Given the description of an element on the screen output the (x, y) to click on. 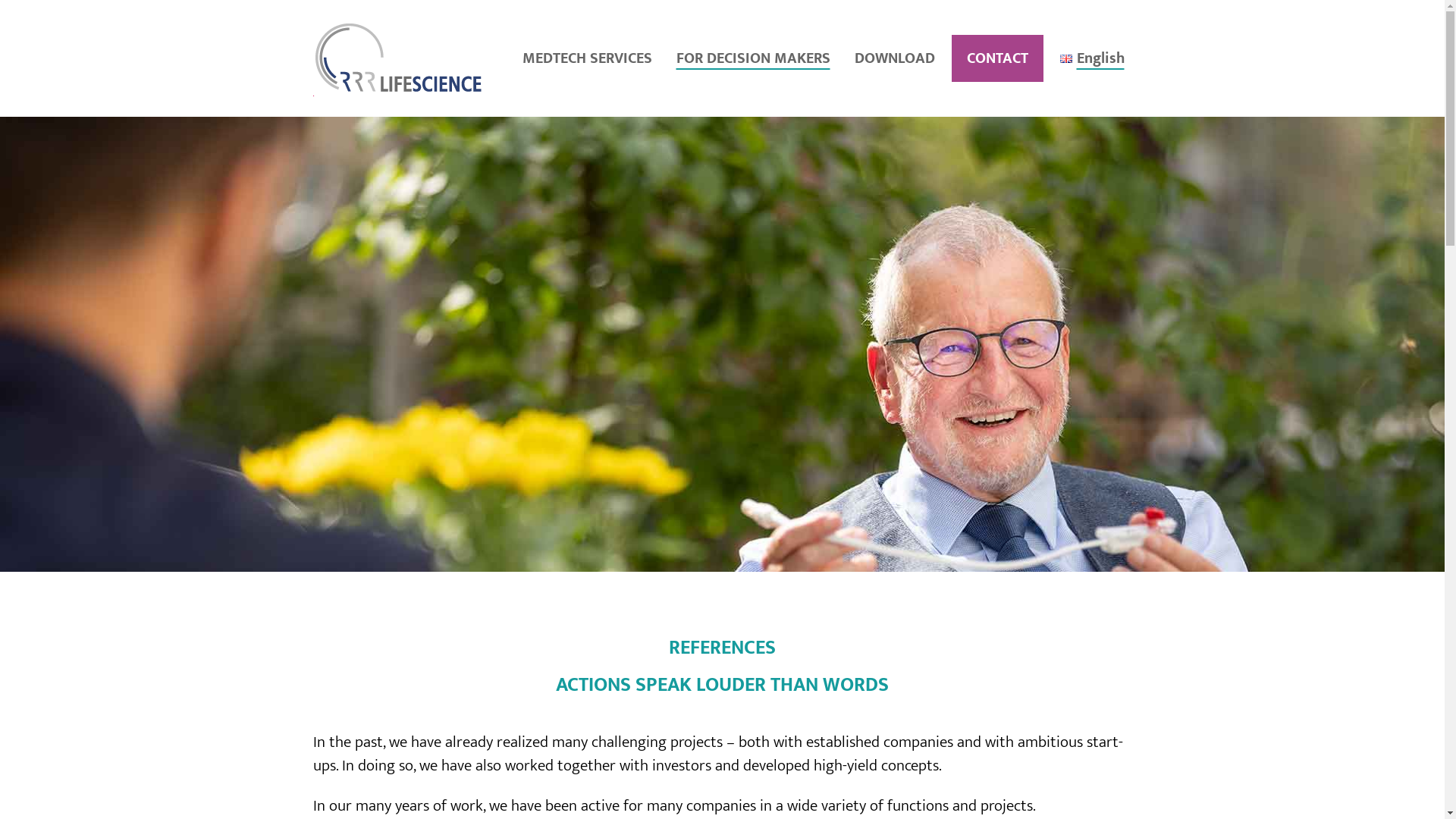
FOR DECISION MAKERS Element type: text (756, 58)
DOWNLOAD Element type: text (893, 58)
MEDTECH SERVICES Element type: text (589, 58)
English Element type: text (1096, 58)
CONTACT Element type: text (996, 57)
